Given the description of an element on the screen output the (x, y) to click on. 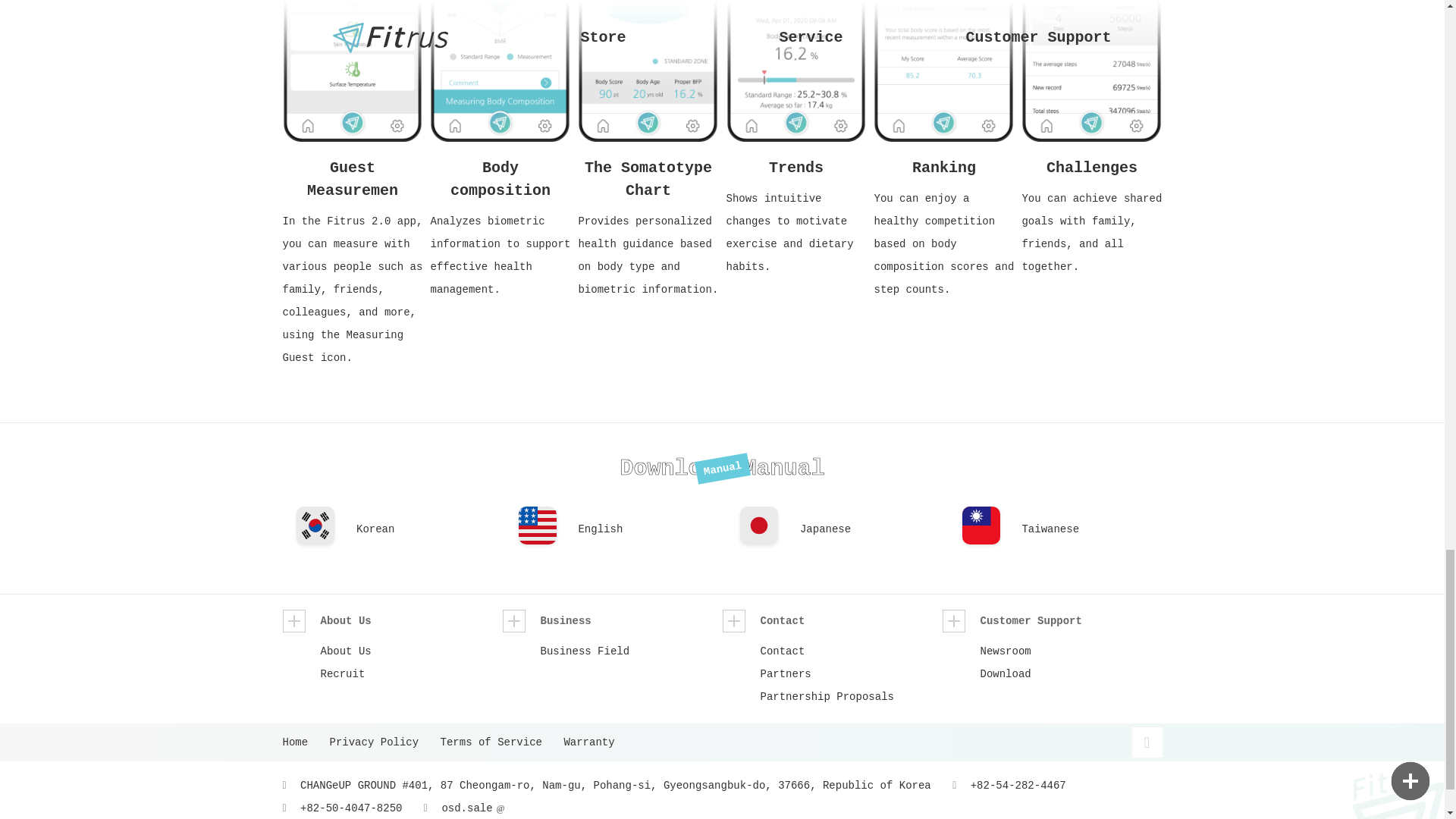
Business (612, 620)
Home (302, 742)
Customer Support (1051, 620)
Business Field (631, 650)
Warranty (595, 742)
About Us (392, 620)
Korean (426, 531)
English (647, 531)
Contact (832, 620)
Contact (851, 650)
Taiwanese (1091, 531)
Terms of Service (499, 742)
Partnership Proposals (851, 696)
Newsroom (1070, 650)
Japanese (869, 531)
